Given the description of an element on the screen output the (x, y) to click on. 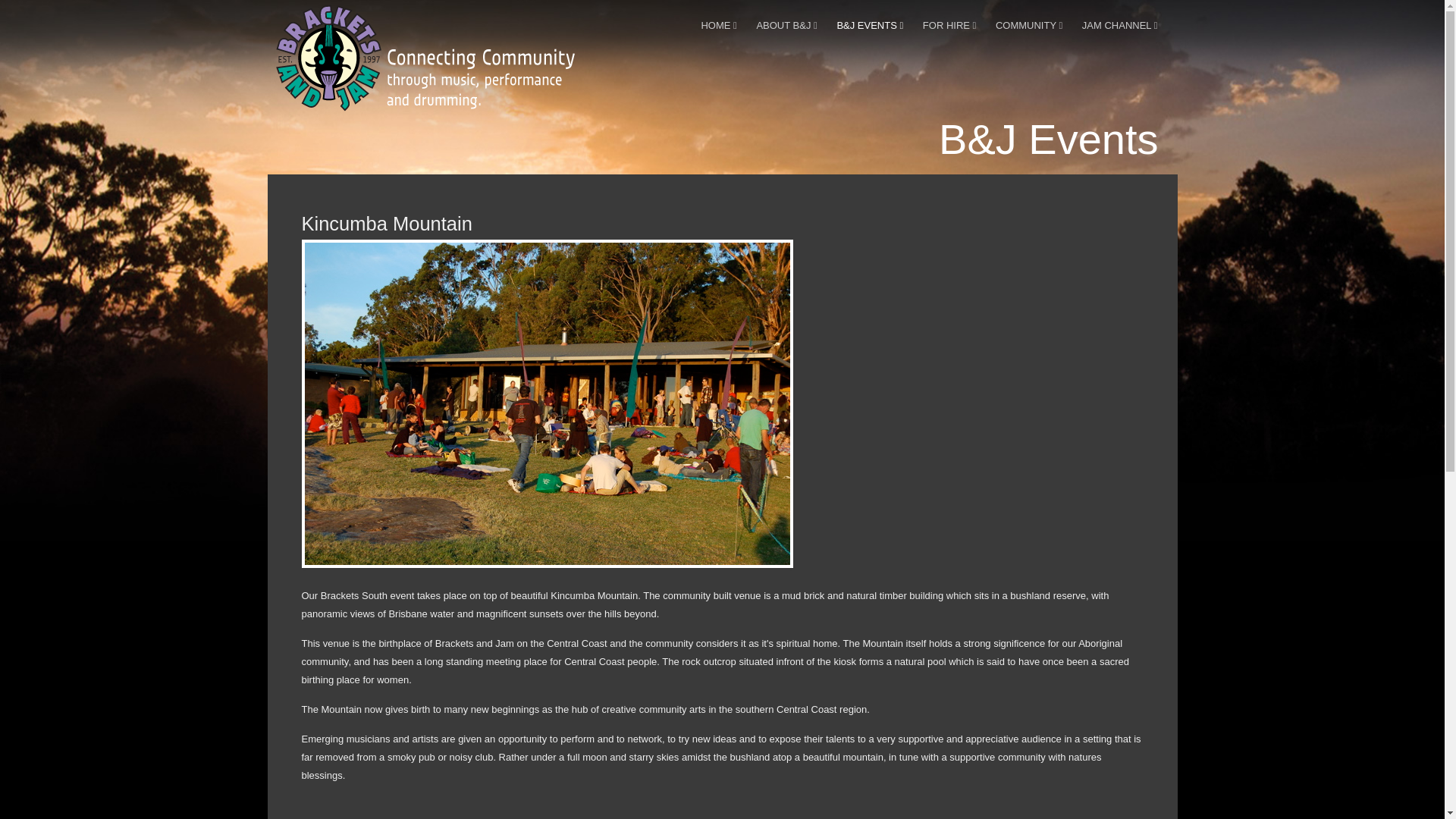
HOME (718, 24)
COMMUNITY (1029, 24)
FOR HIRE (949, 24)
JAM CHANNEL (1120, 24)
